Given the description of an element on the screen output the (x, y) to click on. 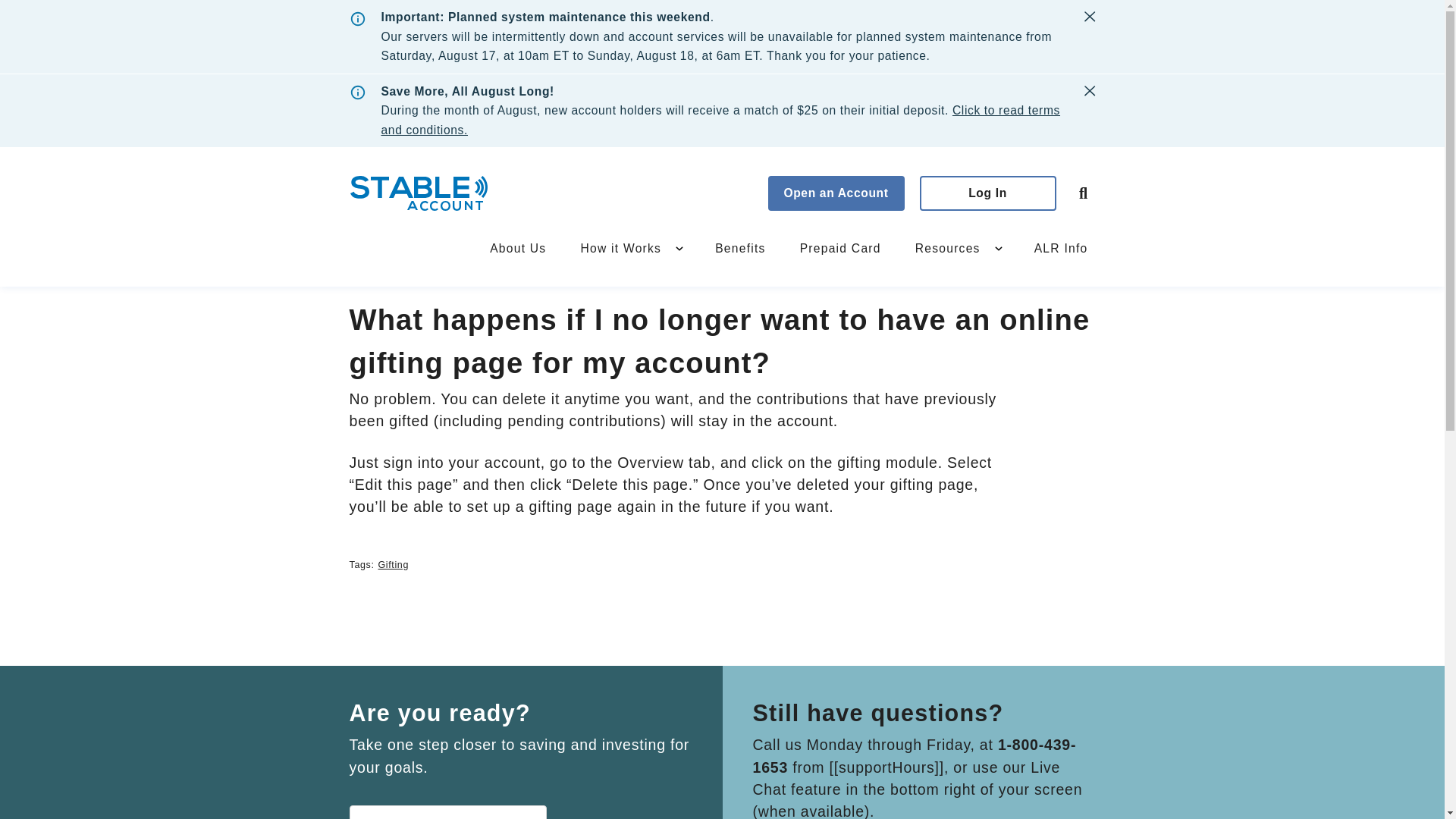
Get started (447, 812)
Gifting (393, 564)
Prepaid Card (840, 247)
How it Works (620, 247)
Resources (947, 247)
Benefits (740, 247)
Search (1082, 192)
About Us (517, 247)
ALR Info (1061, 247)
Open an Account (835, 193)
